Given the description of an element on the screen output the (x, y) to click on. 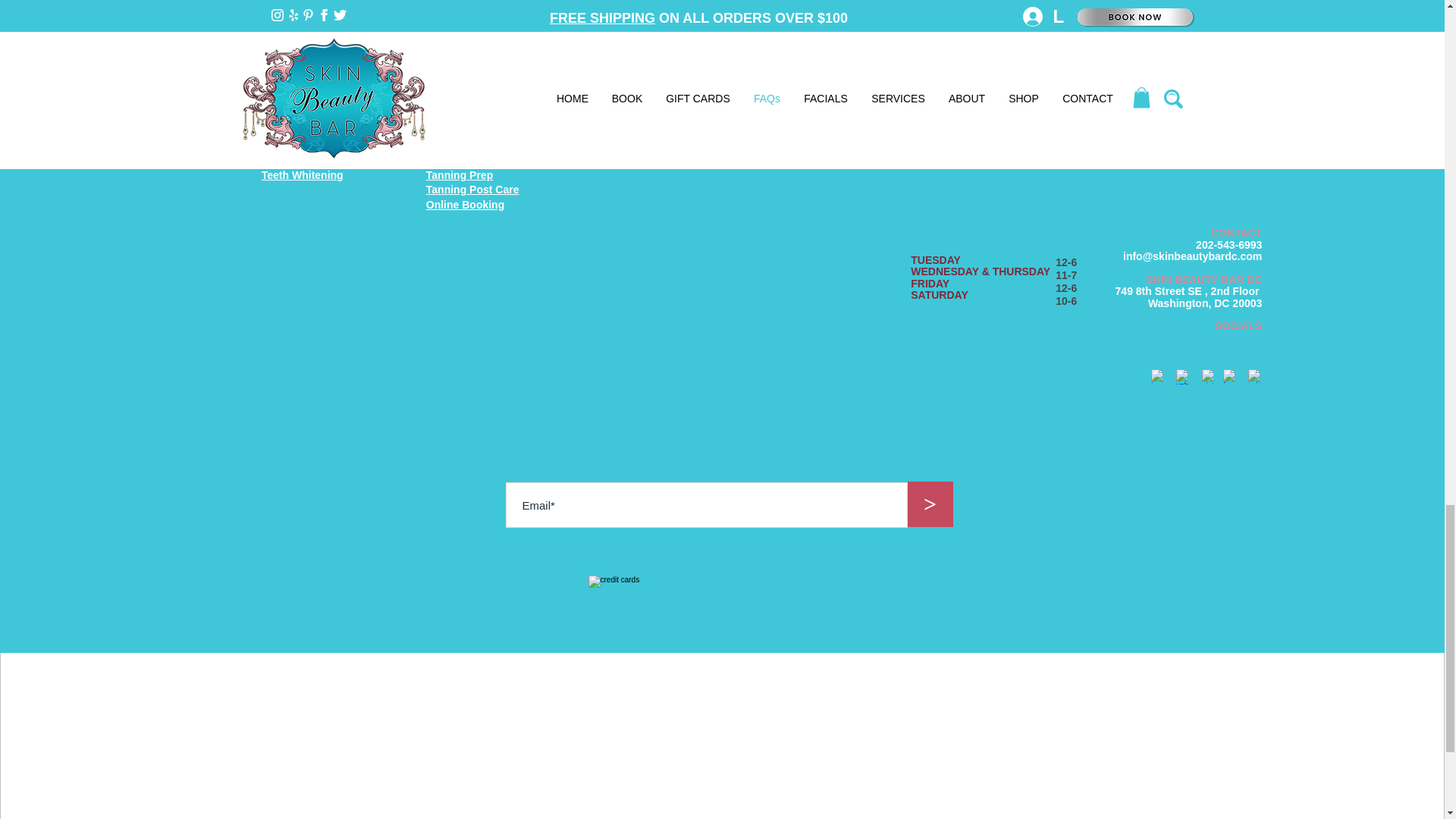
Facials (279, 85)
Waxing (280, 101)
facebook-white-NOCIRCLE.png (1229, 376)
credit cards (726, 604)
instagram-white-NOCIRCLE.png (1157, 376)
